Given the description of an element on the screen output the (x, y) to click on. 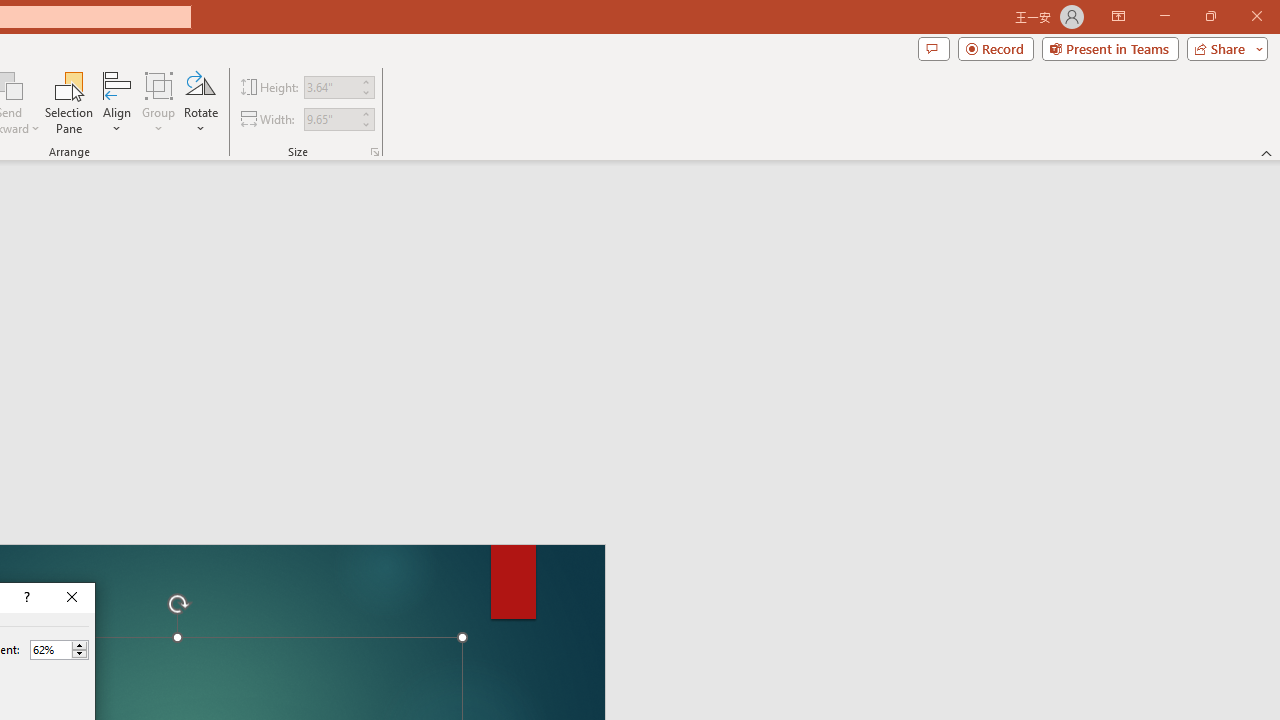
Percent (59, 650)
Rotate (200, 102)
Shape Width (330, 119)
Percent (50, 649)
Align (117, 102)
Shape Height (330, 87)
